Given the description of an element on the screen output the (x, y) to click on. 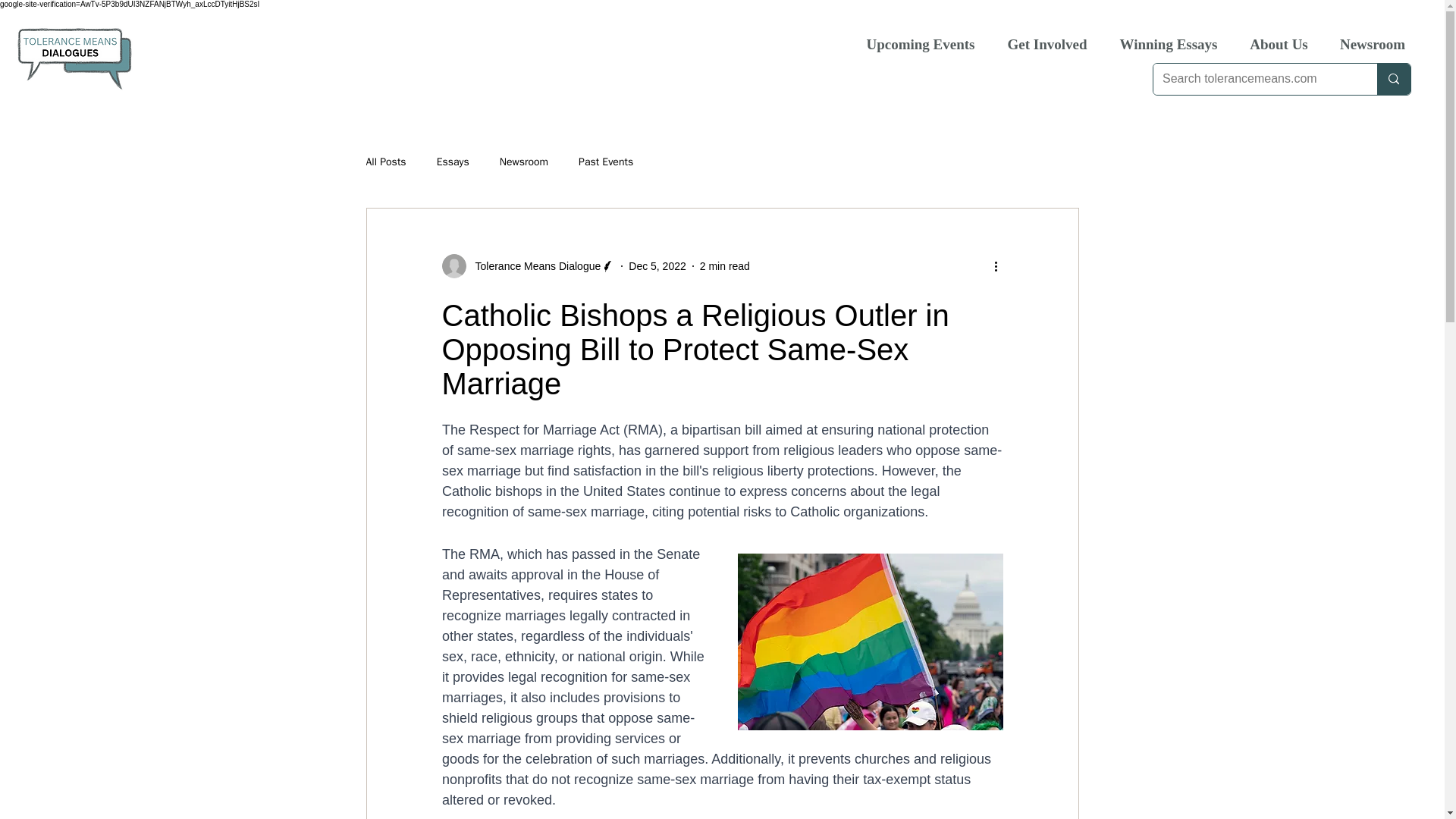
Past Events (605, 161)
GJG Logo (74, 58)
Tolerance Means Dialogue (532, 265)
Tolerance Means Dialogue (527, 265)
Essays (452, 161)
Winning Essays (1168, 44)
Upcoming Events (920, 44)
About Us (1278, 44)
All Posts (385, 161)
Newsroom (523, 161)
